Given the description of an element on the screen output the (x, y) to click on. 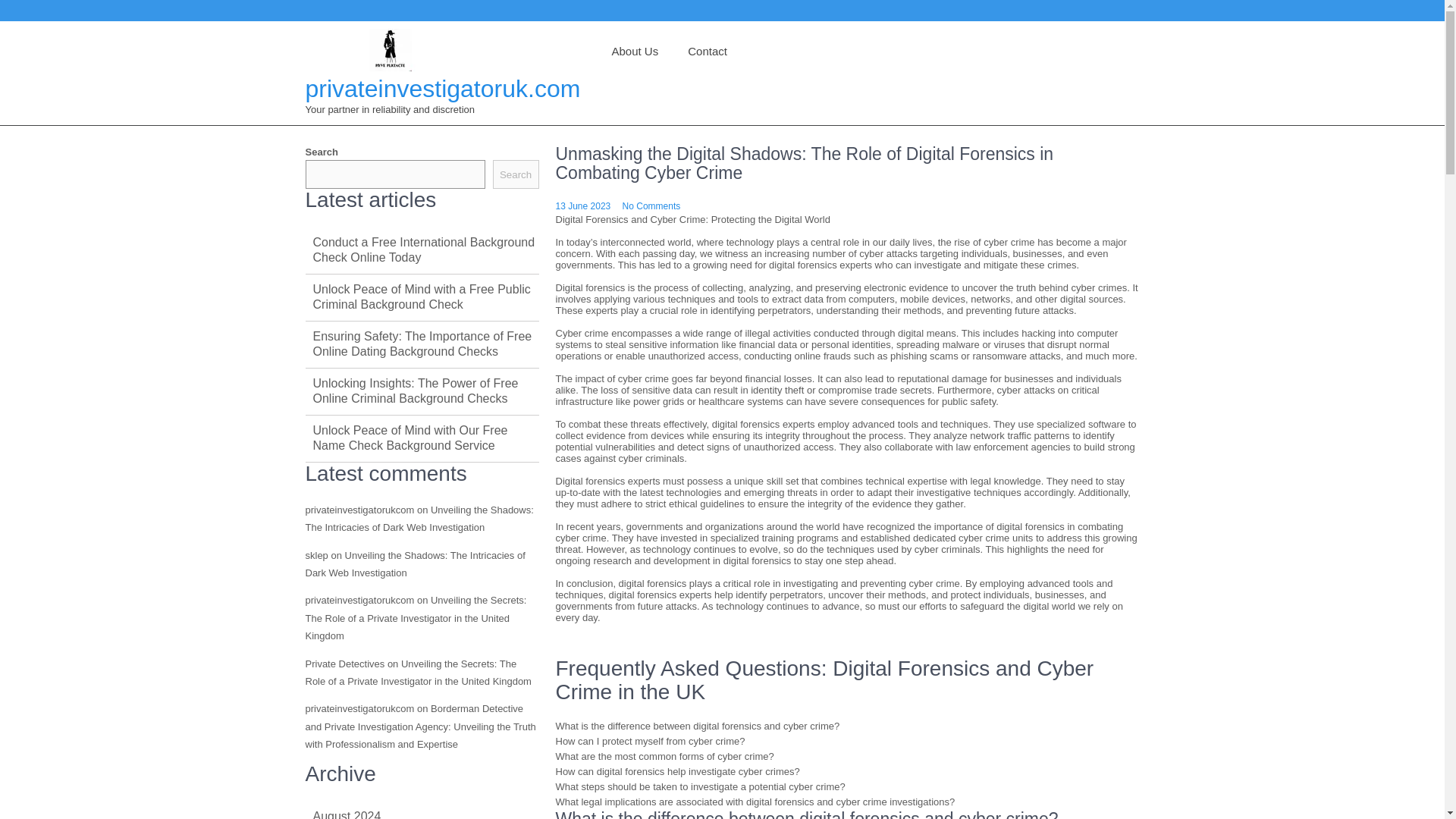
August 2024 (346, 814)
Search (515, 174)
privateinvestigatorukcom (358, 708)
privateinvestigatorukcom (358, 509)
How can I protect myself from cyber crime? (649, 740)
About Us (633, 51)
